Given the description of an element on the screen output the (x, y) to click on. 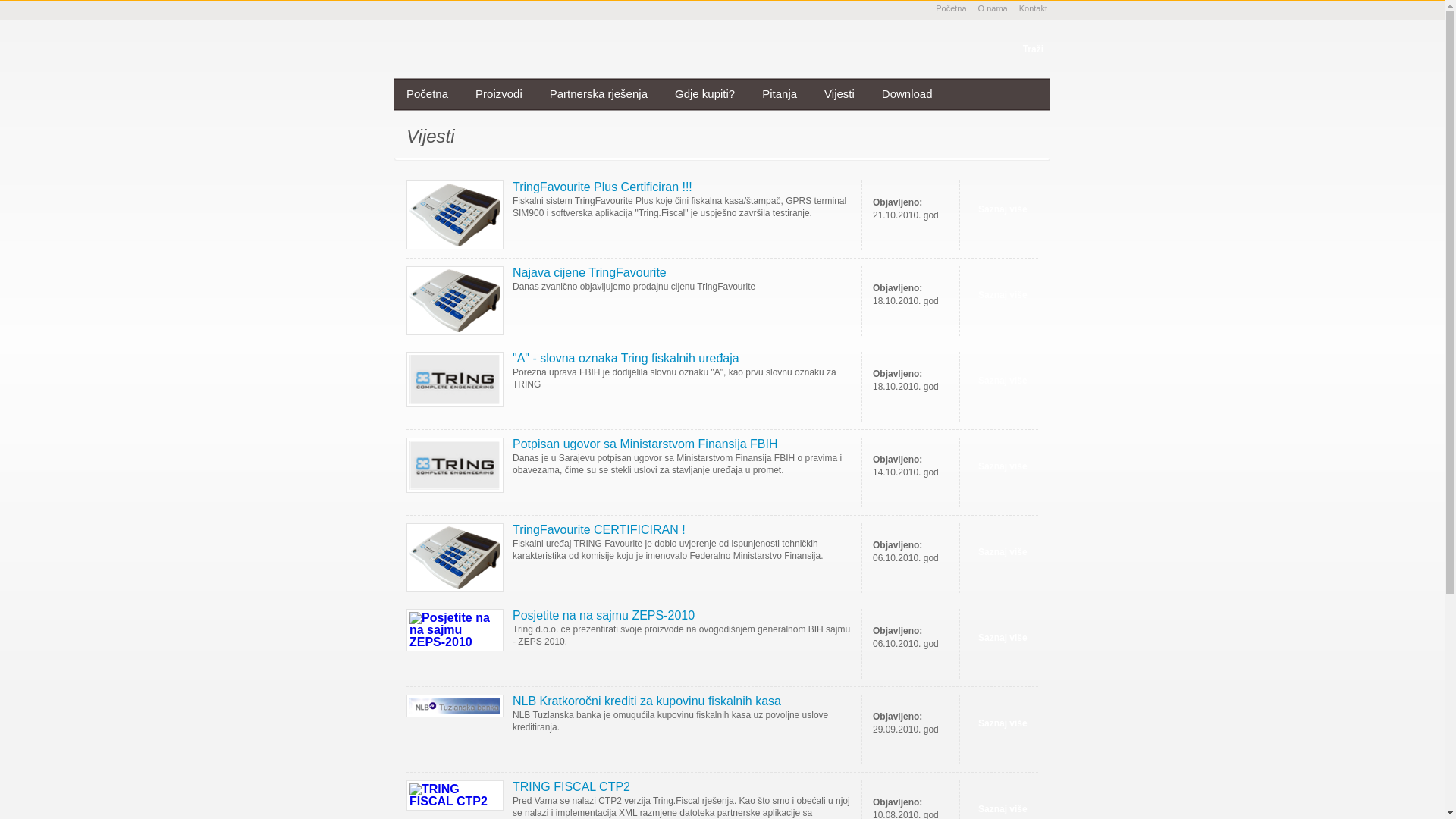
Posjetite na na sajmu ZEPS-2010 Element type: text (603, 614)
Pitanja Element type: text (779, 94)
Download Element type: text (907, 94)
TringFavourite Plus Certificiran !!! Element type: text (602, 186)
Kontakt Element type: text (1033, 8)
TringFavourite CERTIFICIRAN ! Element type: text (598, 529)
Gdje kupiti? Element type: text (704, 94)
O nama Element type: text (992, 8)
Najava cijene TringFavourite Element type: text (589, 272)
Vijesti Element type: text (839, 94)
TRING FISCAL CTP2 Element type: text (571, 786)
Potpisan ugovor sa Ministarstvom Finansija FBIH Element type: text (644, 443)
Proizvodi Element type: text (498, 94)
